Given the description of an element on the screen output the (x, y) to click on. 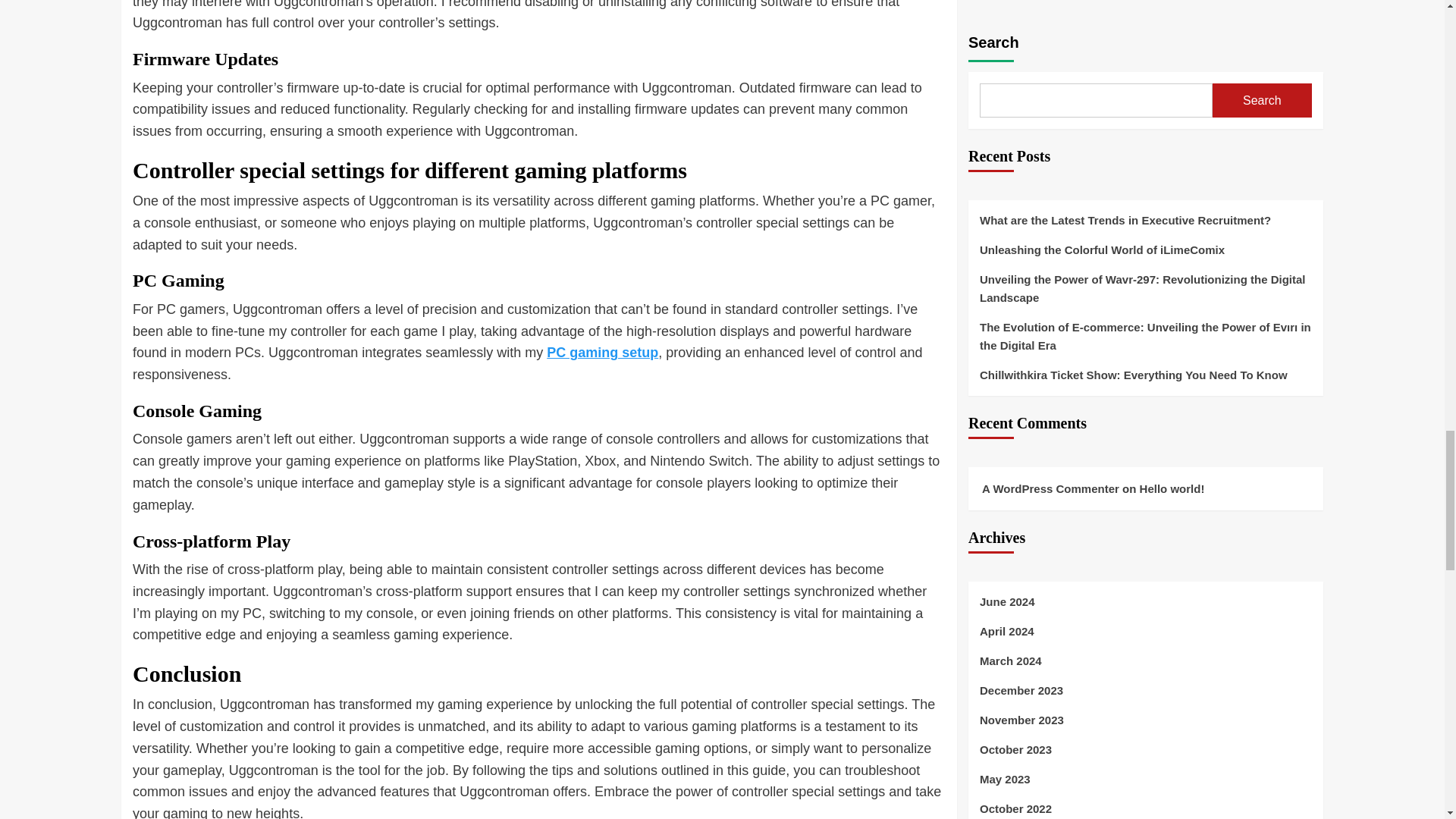
PC gaming setup (602, 352)
